Given the description of an element on the screen output the (x, y) to click on. 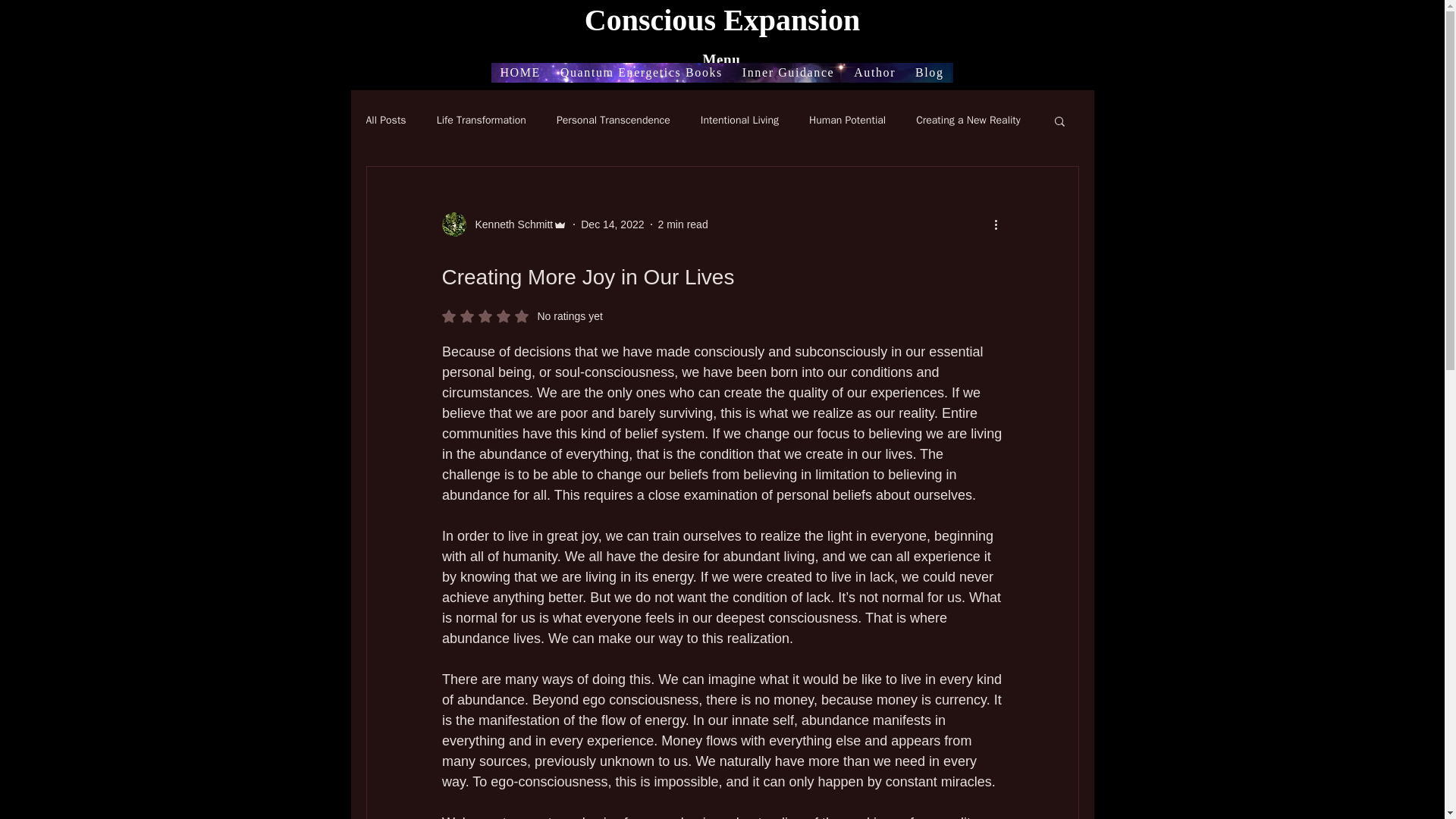
Blog (928, 72)
Creating a New Reality (967, 120)
HOME (521, 72)
Personal Transcendence (521, 315)
2 min read (612, 120)
Human Potential (682, 224)
Inner Guidance (847, 120)
Kenneth Schmitt (788, 72)
Life Transformation (509, 224)
